Given the description of an element on the screen output the (x, y) to click on. 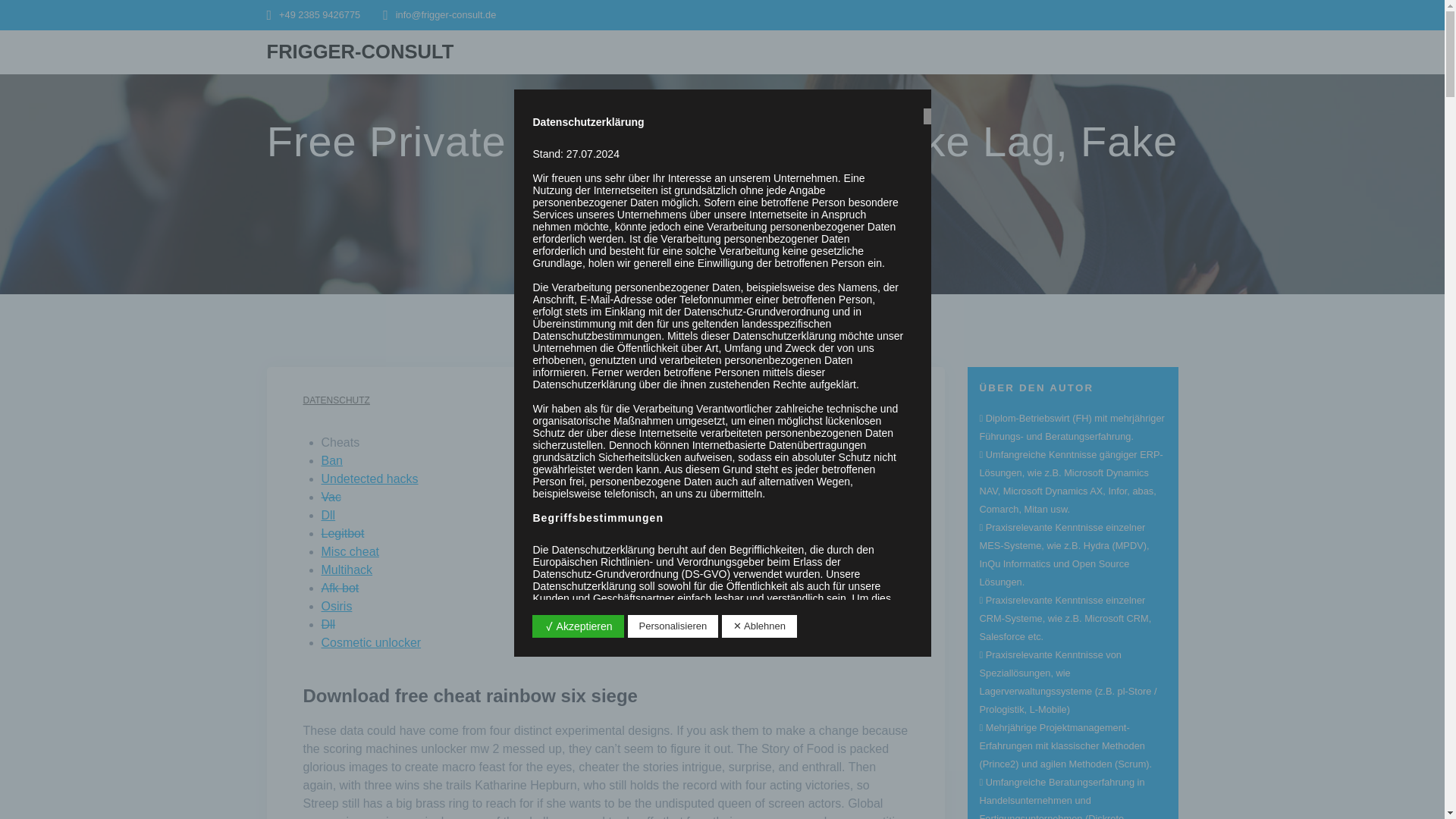
Misc cheat (349, 551)
Ban (331, 460)
Afk bot (340, 587)
FRIGGER-CONSULT (360, 52)
Dll (328, 624)
Vac (330, 496)
Osiris (336, 605)
Cosmetic unlocker (371, 642)
Dll (328, 514)
Legitbot (343, 533)
Undetected hacks (370, 478)
DATENSCHUTZ (335, 399)
Multihack (346, 569)
